Given the description of an element on the screen output the (x, y) to click on. 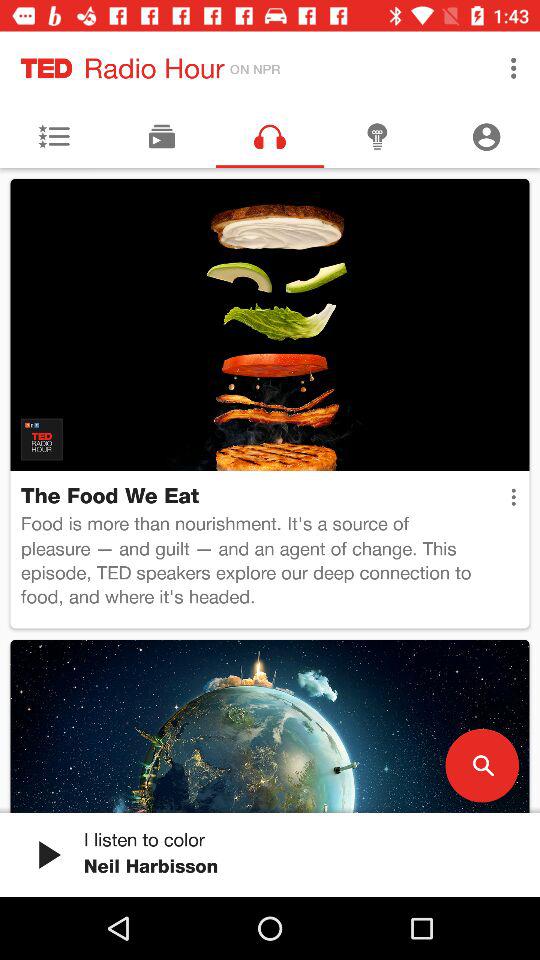
launch icon to the right of the on npr (513, 67)
